Given the description of an element on the screen output the (x, y) to click on. 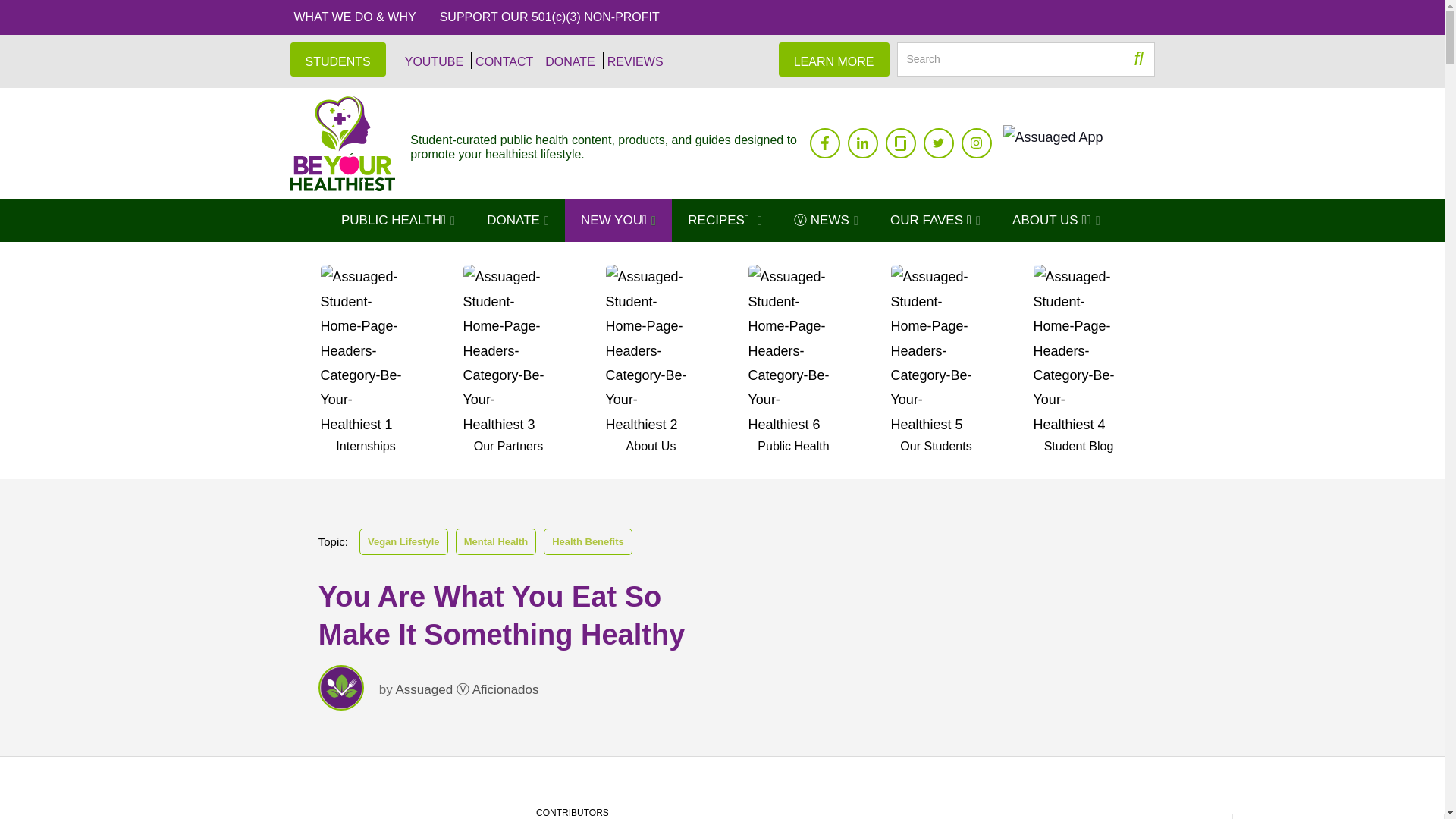
DONATE (517, 220)
STUDENTS (337, 59)
Assuaged (341, 143)
DONATE (567, 60)
LEARN MORE (833, 59)
CONTACT (501, 60)
REVIEWS (632, 60)
YOUTUBE (432, 60)
